Given the description of an element on the screen output the (x, y) to click on. 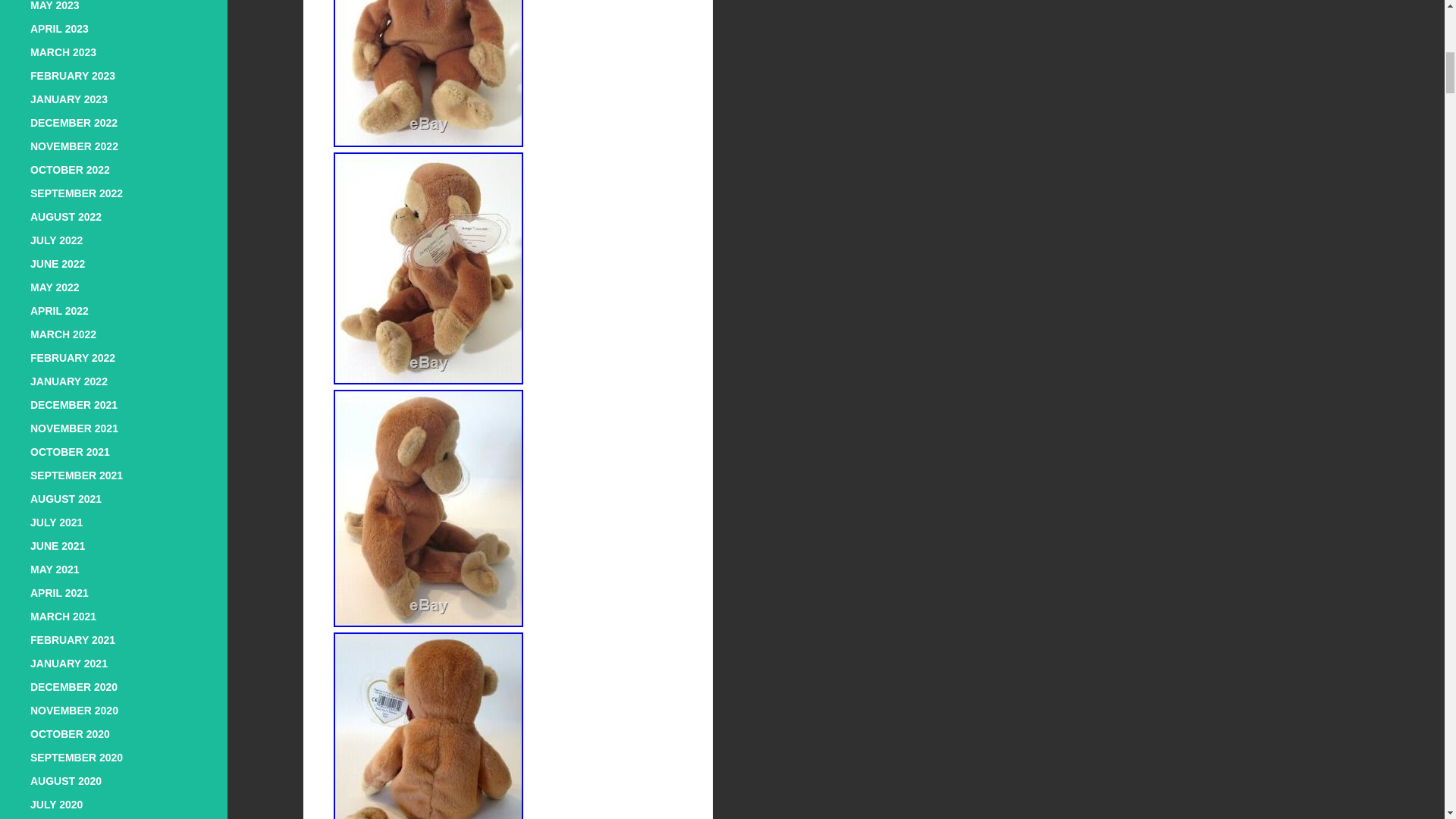
MAY 2023 (55, 5)
JANUARY 2023 (68, 99)
FEBRUARY 2023 (72, 75)
SEPTEMBER 2022 (76, 193)
DECEMBER 2022 (73, 122)
OCTOBER 2022 (70, 169)
NOVEMBER 2022 (73, 146)
MAY 2022 (55, 287)
JUNE 2022 (57, 263)
MARCH 2023 (63, 51)
AUGUST 2022 (65, 216)
FEBRUARY 2022 (72, 357)
APRIL 2022 (59, 310)
MARCH 2022 (63, 334)
JULY 2022 (56, 240)
